Given the description of an element on the screen output the (x, y) to click on. 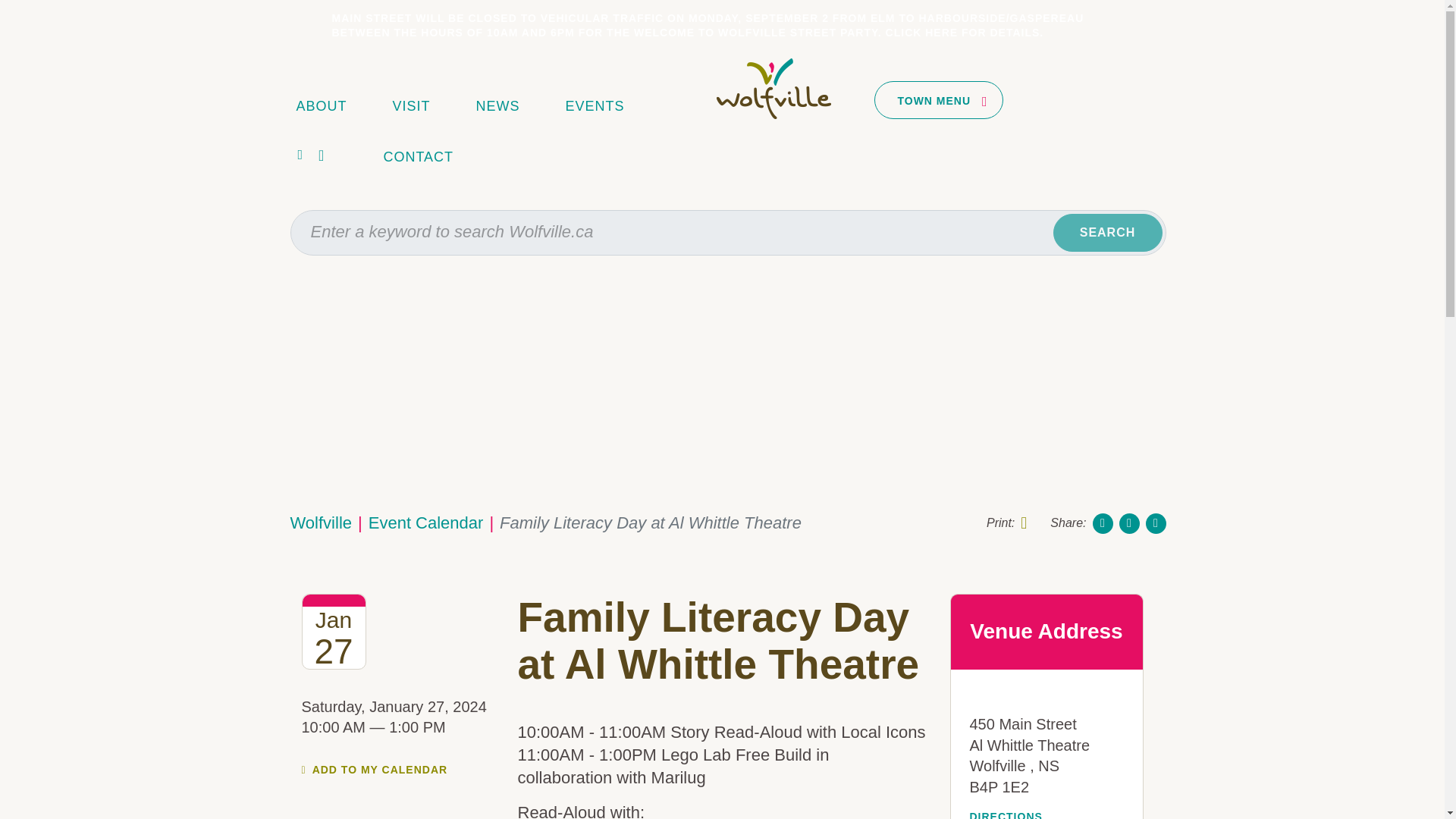
NEWS (497, 104)
VISIT (411, 104)
CLICK HERE FOR DETAILS. (964, 32)
ABOUT (320, 104)
EVENTS (594, 104)
TOWN MENU (939, 98)
About Wolfville (320, 104)
News and Notices (497, 104)
Visit Wolfville (411, 104)
